Given the description of an element on the screen output the (x, y) to click on. 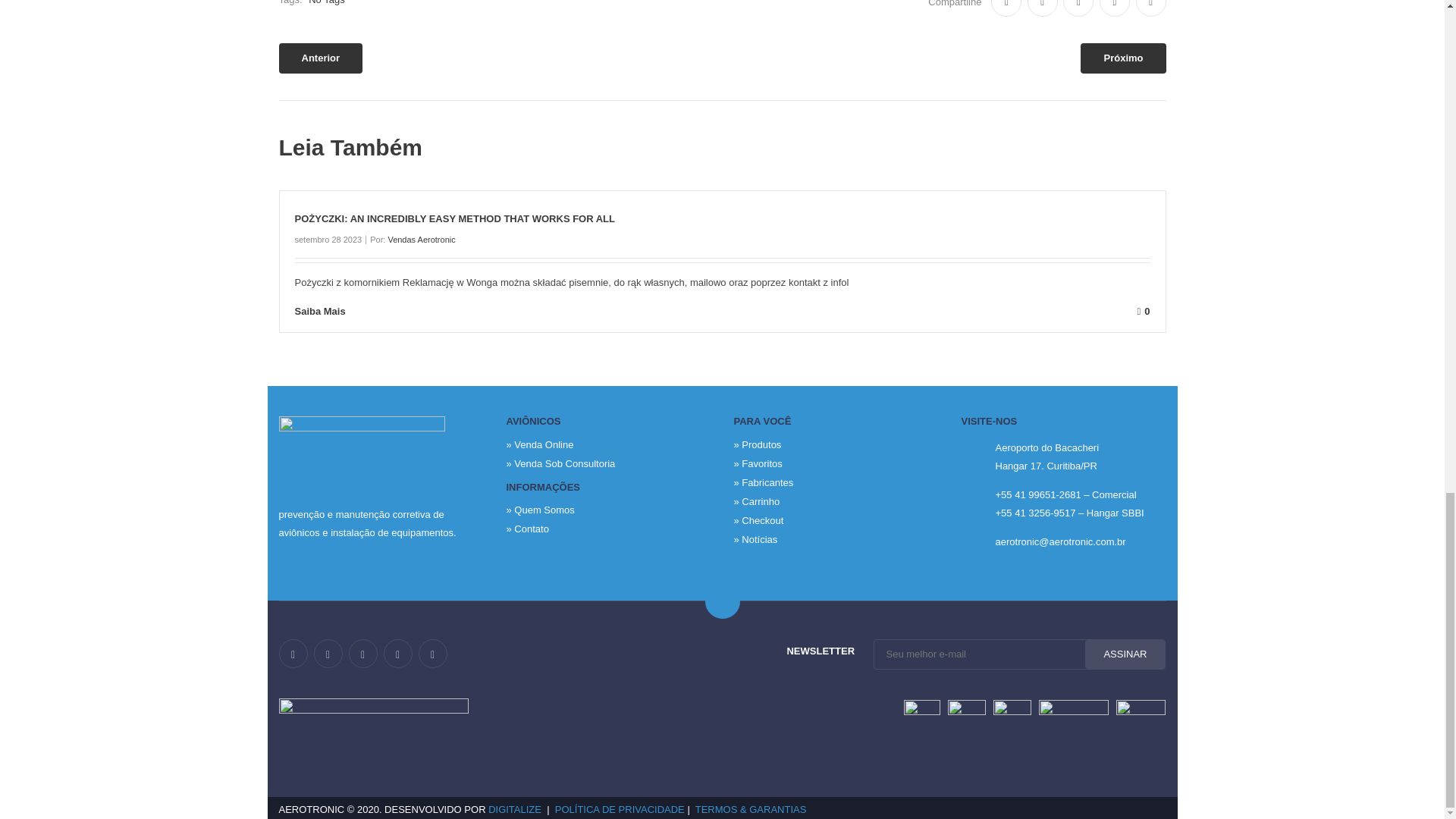
Saiba Mais (331, 310)
ASSINAR (1124, 654)
0 (759, 310)
Vendas Aerotronic (420, 239)
Anterior (320, 58)
